Given the description of an element on the screen output the (x, y) to click on. 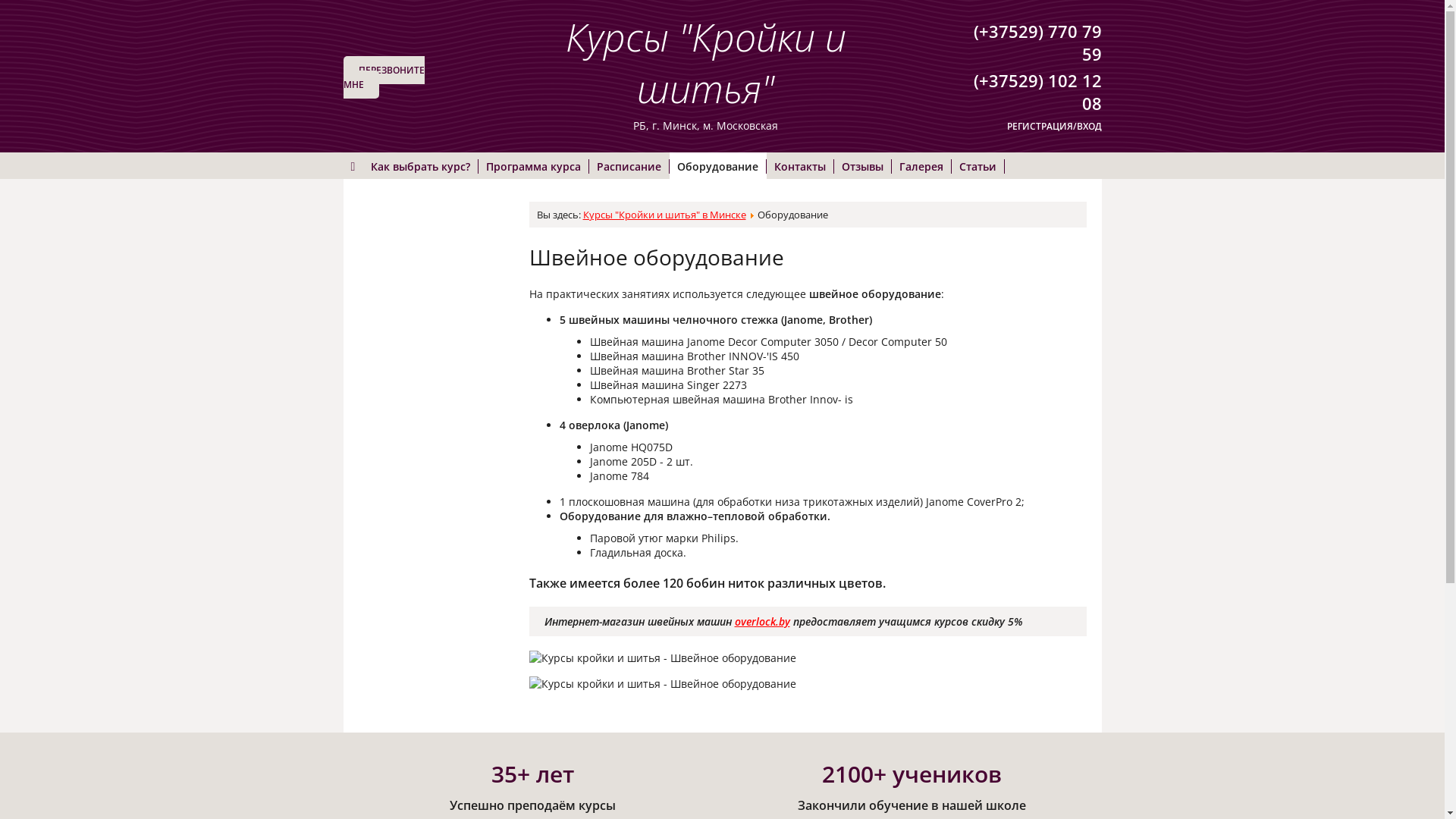
overlock.by Element type: text (761, 621)
(+37529) 770 79 59 Element type: text (1037, 42)
(+37529) 102 12 08 Element type: text (1037, 91)
